Given the description of an element on the screen output the (x, y) to click on. 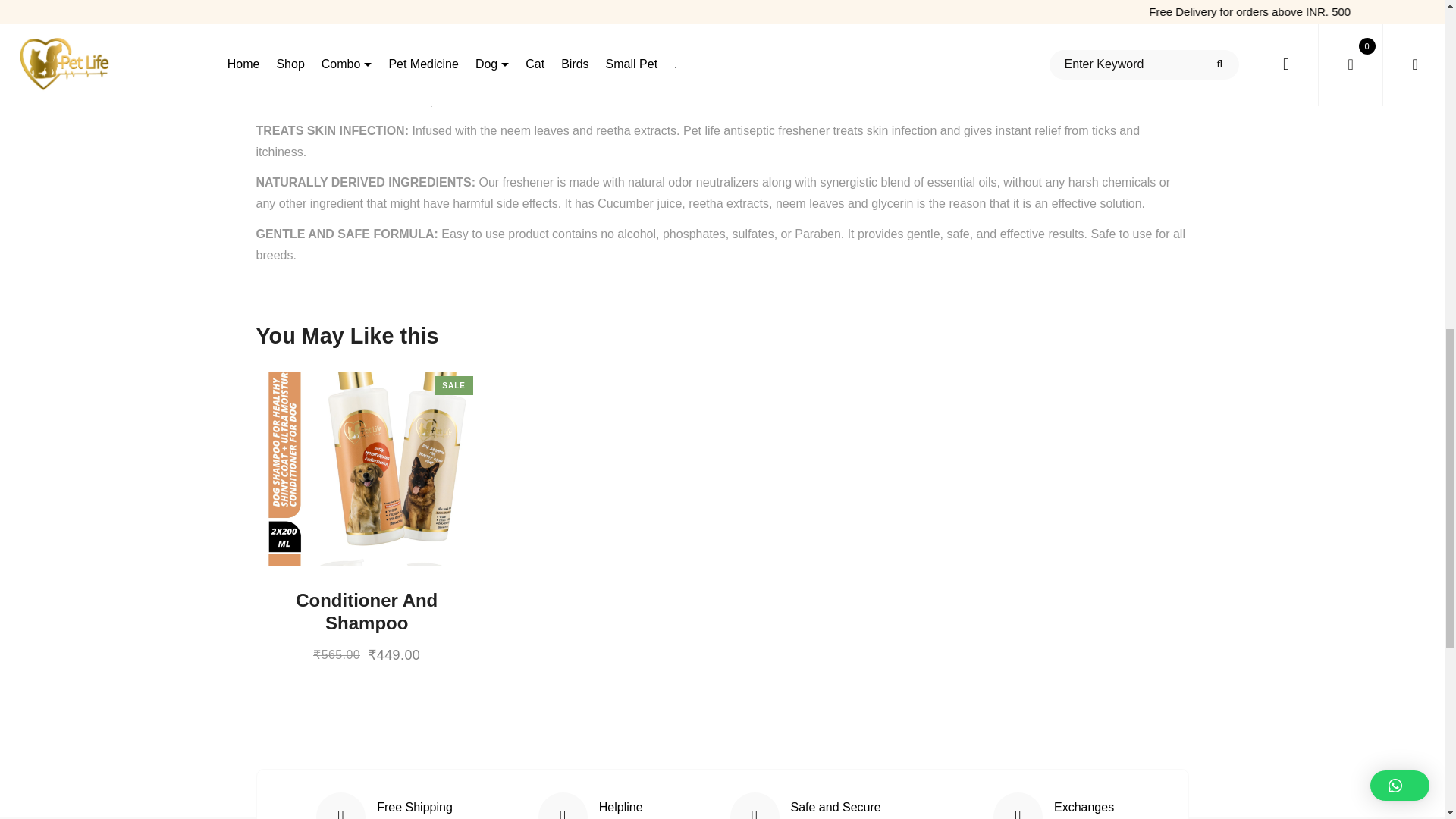
Conditioner and Shampoo (367, 595)
